Given the description of an element on the screen output the (x, y) to click on. 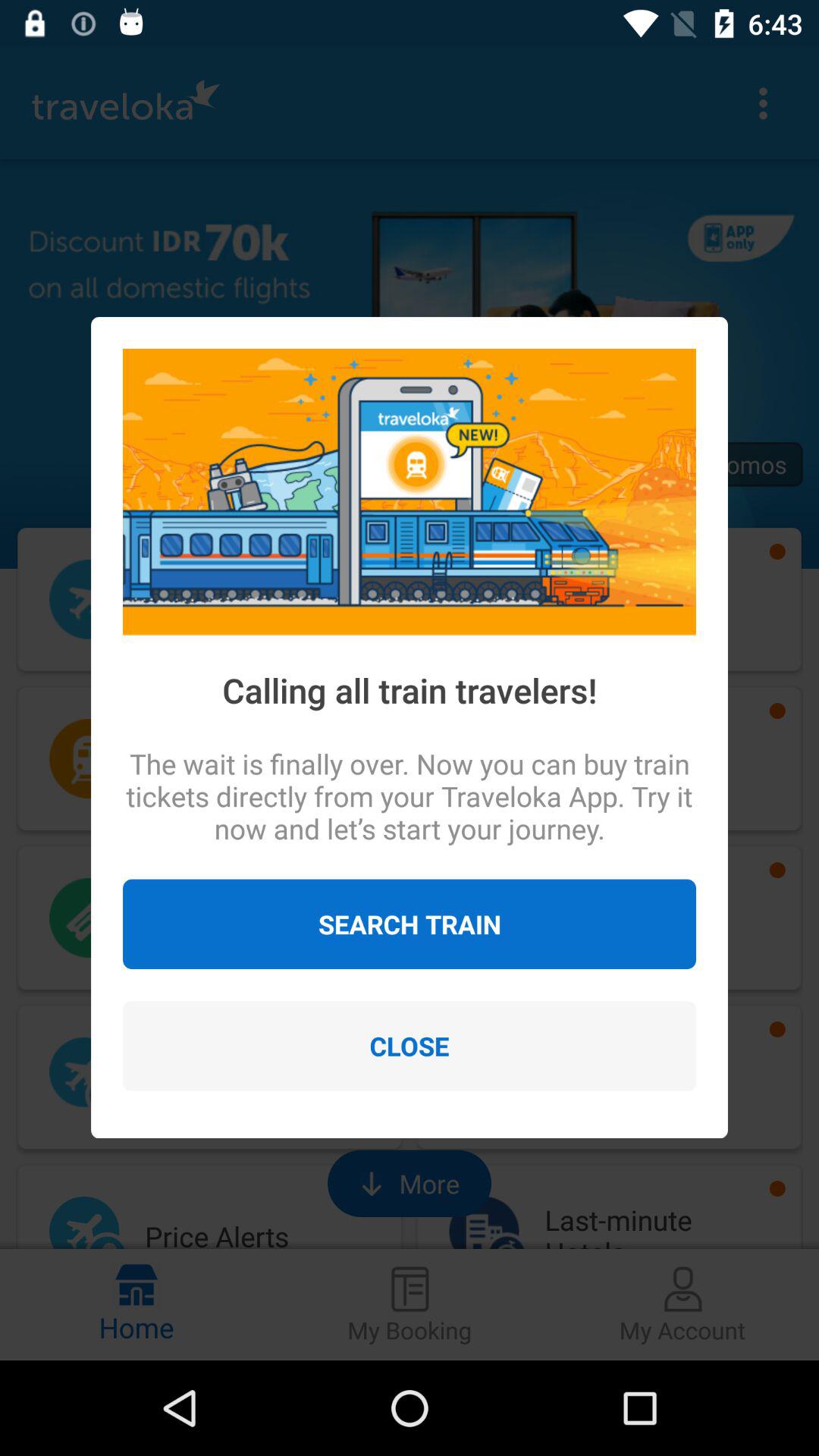
click item at the bottom (409, 1045)
